Given the description of an element on the screen output the (x, y) to click on. 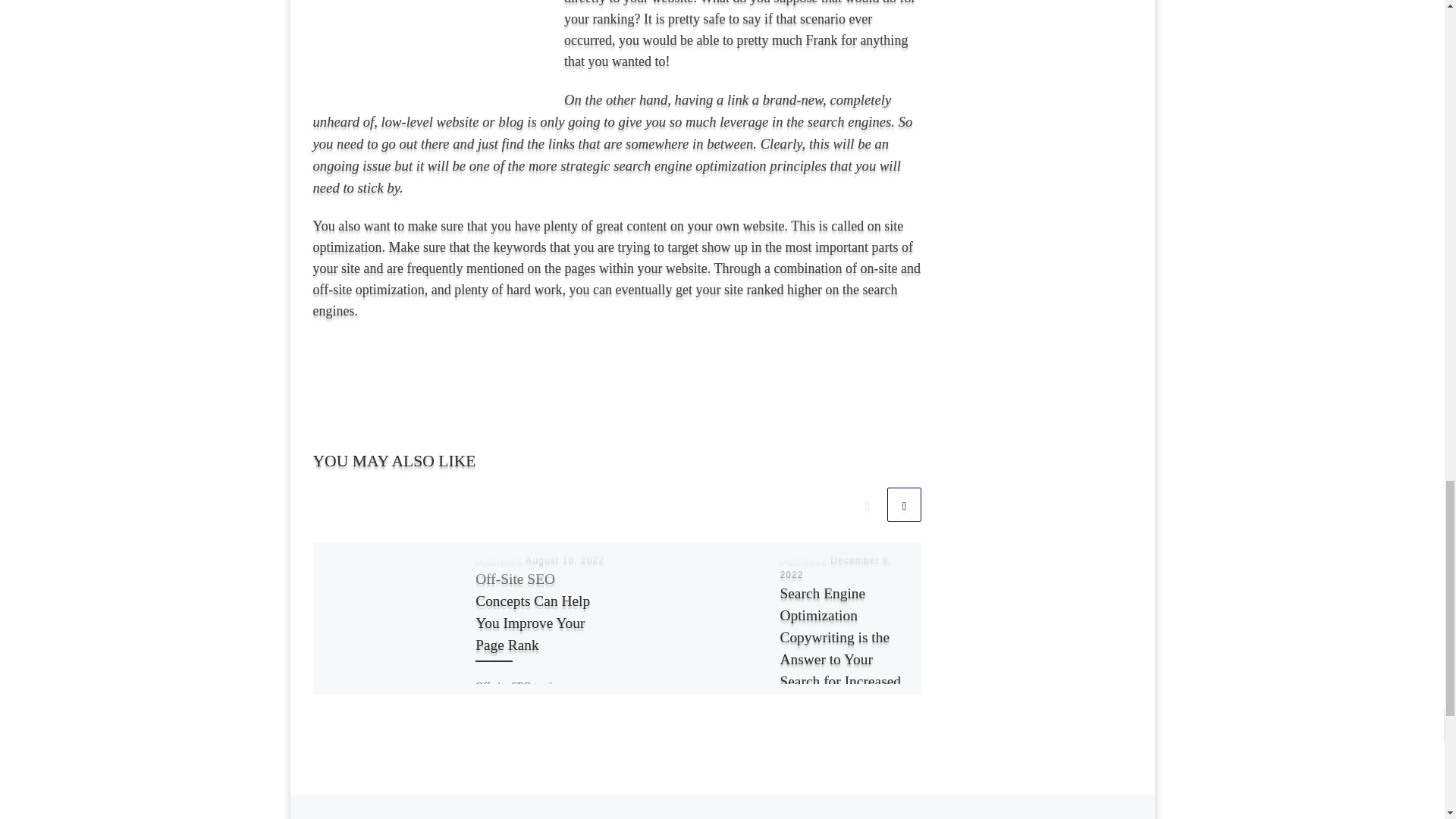
Off-Site SEO Concepts Can Help You Improve Your Page Rank (532, 611)
August 10, 2022 (564, 560)
Previous related articles (866, 504)
Next related articles (903, 504)
